Given the description of an element on the screen output the (x, y) to click on. 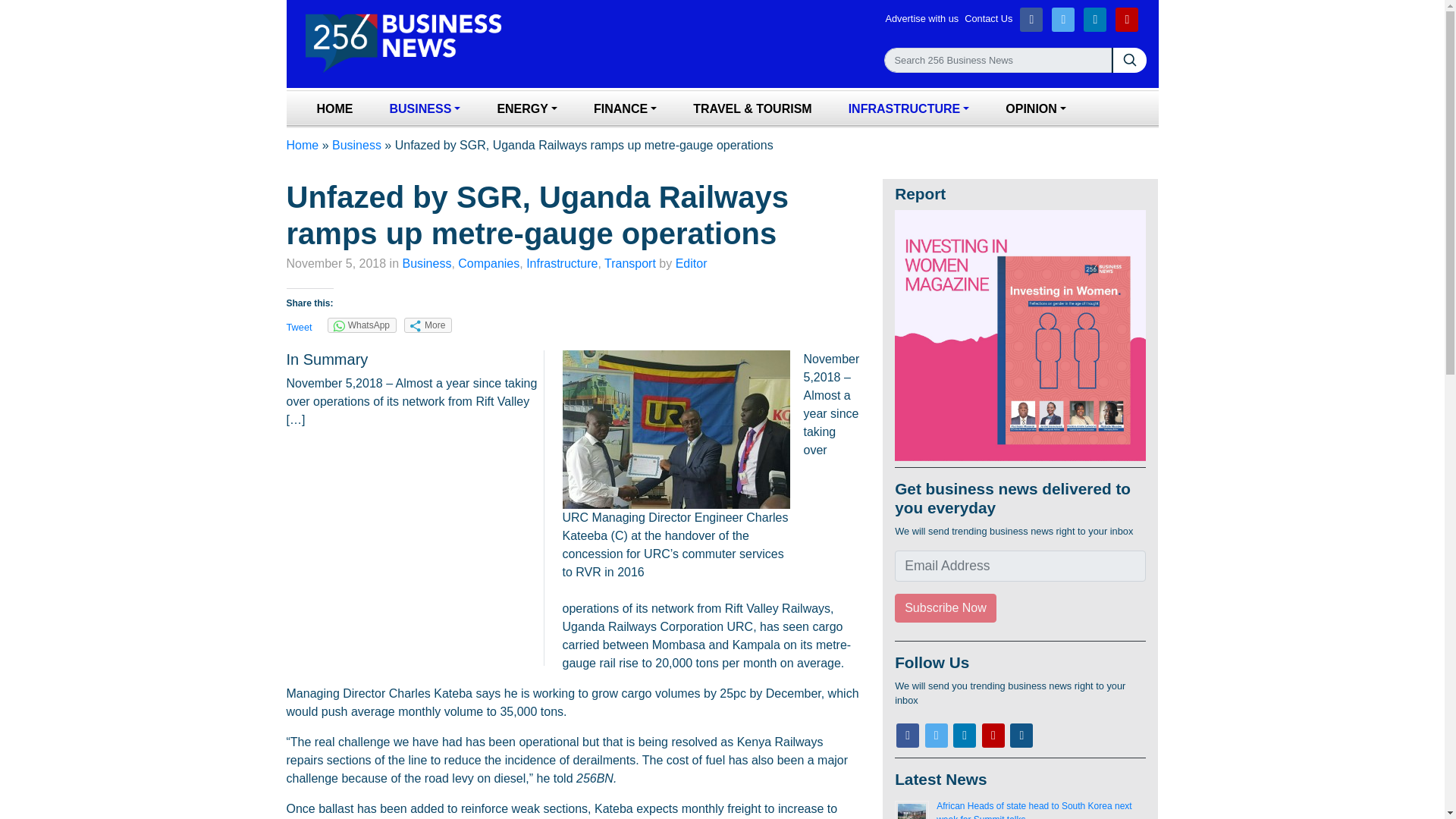
Search (997, 59)
Companies (488, 263)
Subscribe Now (945, 607)
FINANCE (625, 109)
HOME (334, 109)
Finance (625, 109)
Contact Us (990, 19)
Home (334, 109)
Business (426, 263)
Home (302, 144)
